Given the description of an element on the screen output the (x, y) to click on. 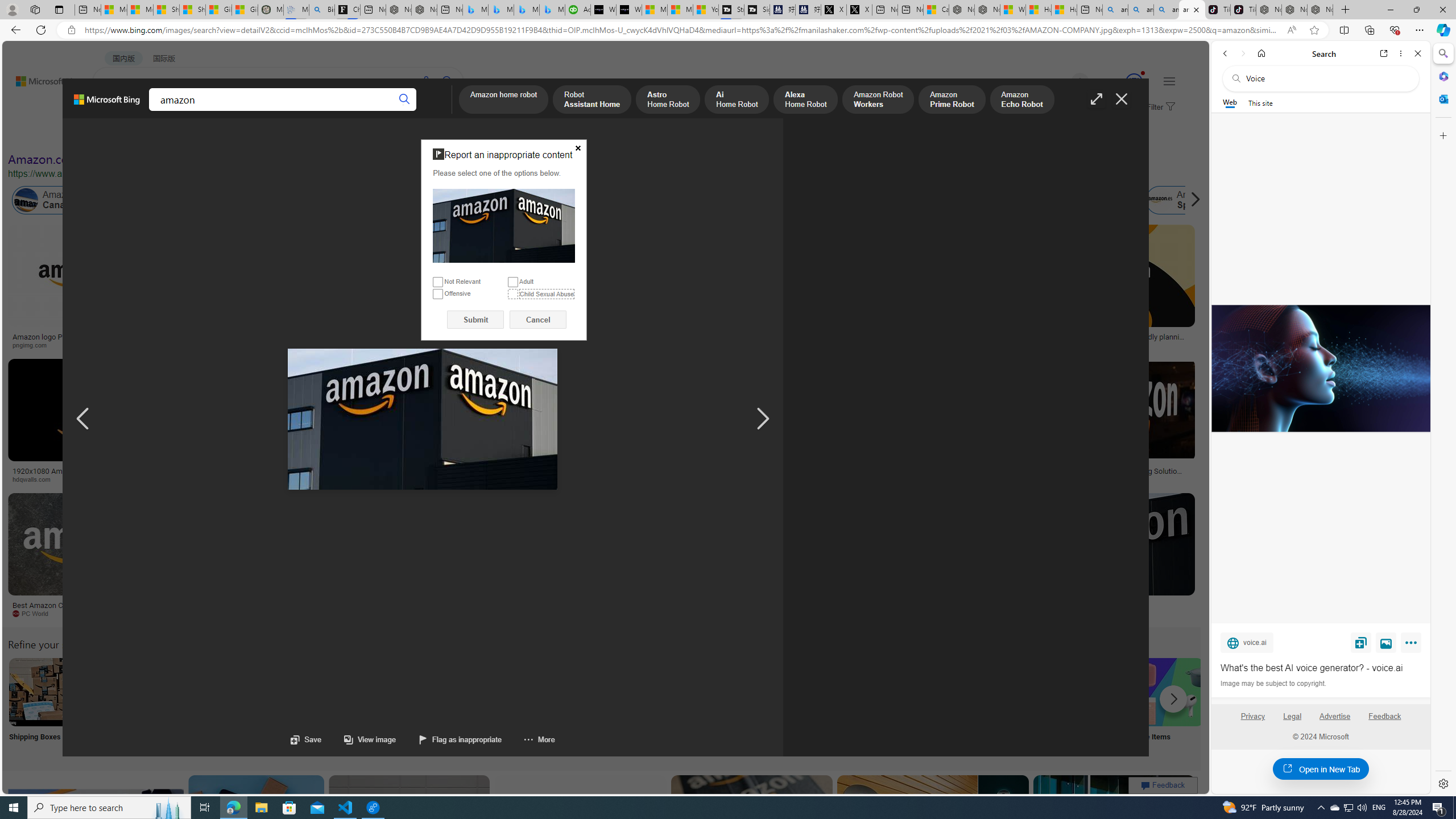
pngimg.com (76, 344)
Amazon Prime Label (1018, 691)
Best Amazon Cyber Monday deals 2019 | PCWorld (82, 608)
Amazon Prime Label Prime Label (1018, 706)
How Much Is Amazon's Net Worth? | GOBankingRates (275, 474)
ACADEMIC (311, 111)
Long Island Press (593, 479)
Amazon Jobs Near Me Jobs Near Me (342, 706)
mobilemarketingmagazine.com (1054, 479)
